Given the description of an element on the screen output the (x, y) to click on. 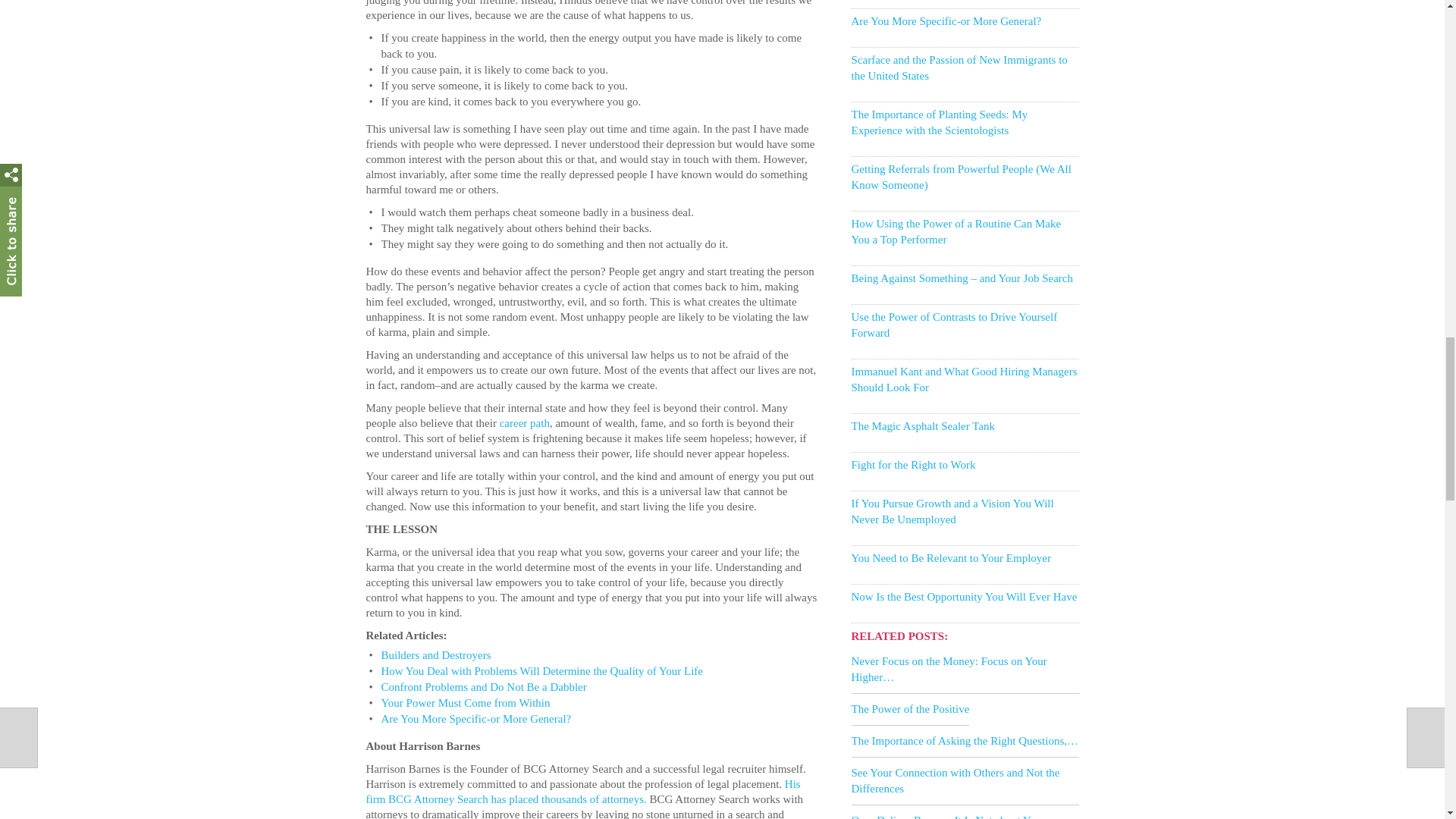
career path (524, 422)
Are You More Specific-or More General? (475, 718)
Your Power Must Come from Within (465, 702)
Career Path (524, 422)
Builders and Destroyers (435, 654)
Confront Problems and Do Not Be a Dabbler (483, 686)
